Given the description of an element on the screen output the (x, y) to click on. 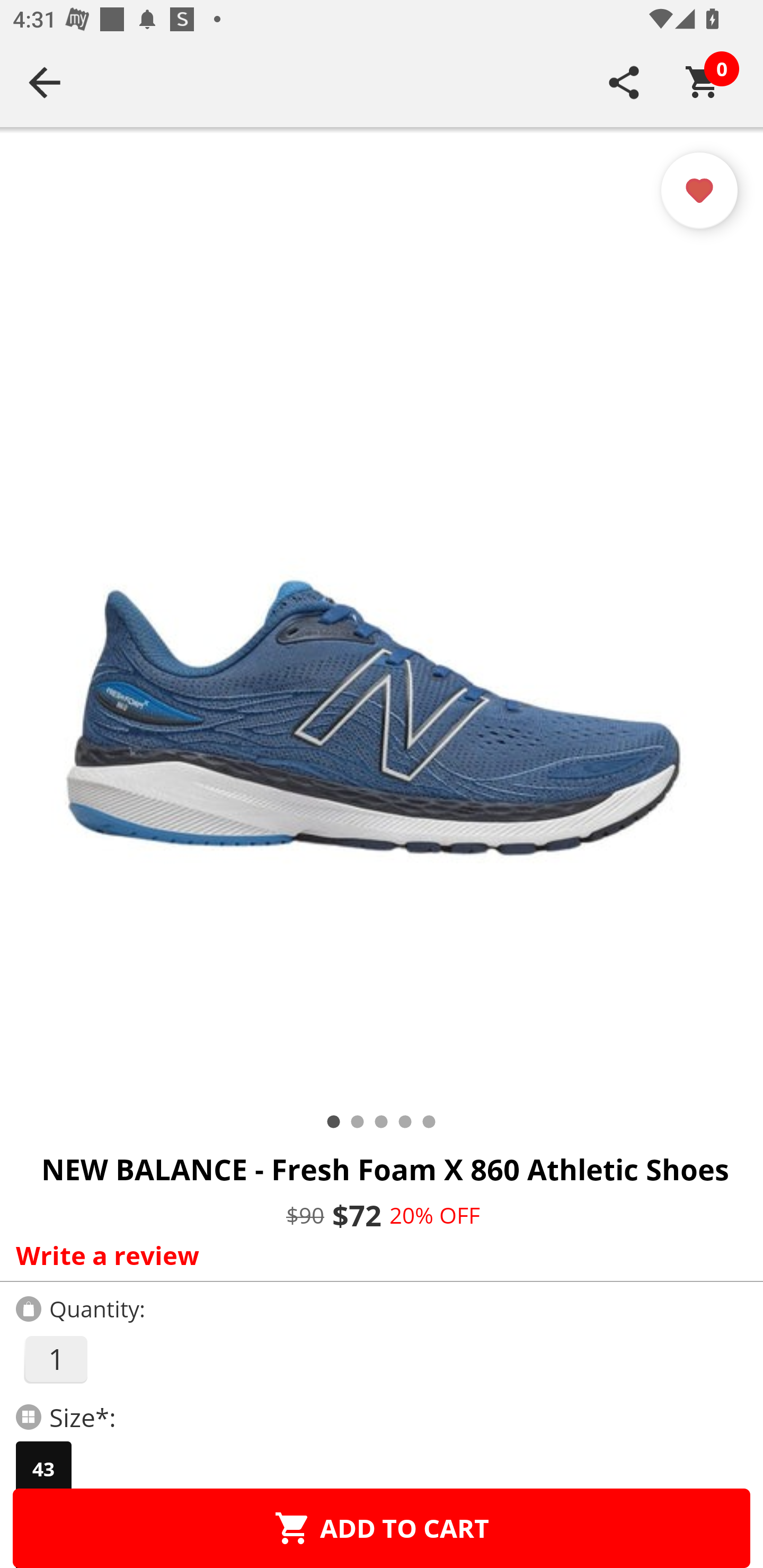
Navigate up (44, 82)
SHARE (623, 82)
Cart (703, 81)
Write a review (377, 1255)
1 (55, 1358)
43 (43, 1468)
ADD TO CART (381, 1528)
